Given the description of an element on the screen output the (x, y) to click on. 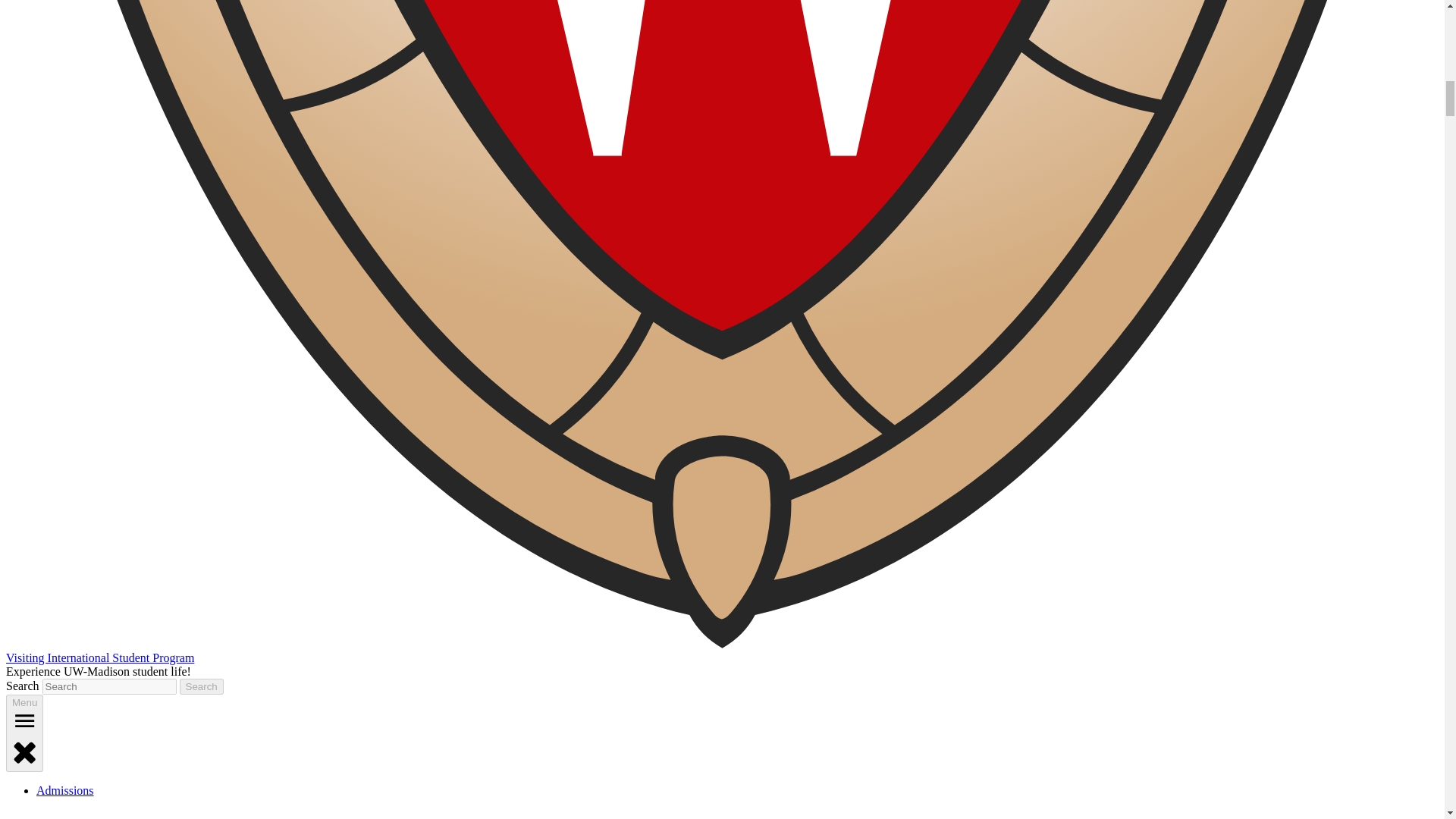
Visiting International Student Program (99, 657)
Search (201, 686)
Search (201, 686)
Search (201, 686)
open menu (24, 720)
